Given the description of an element on the screen output the (x, y) to click on. 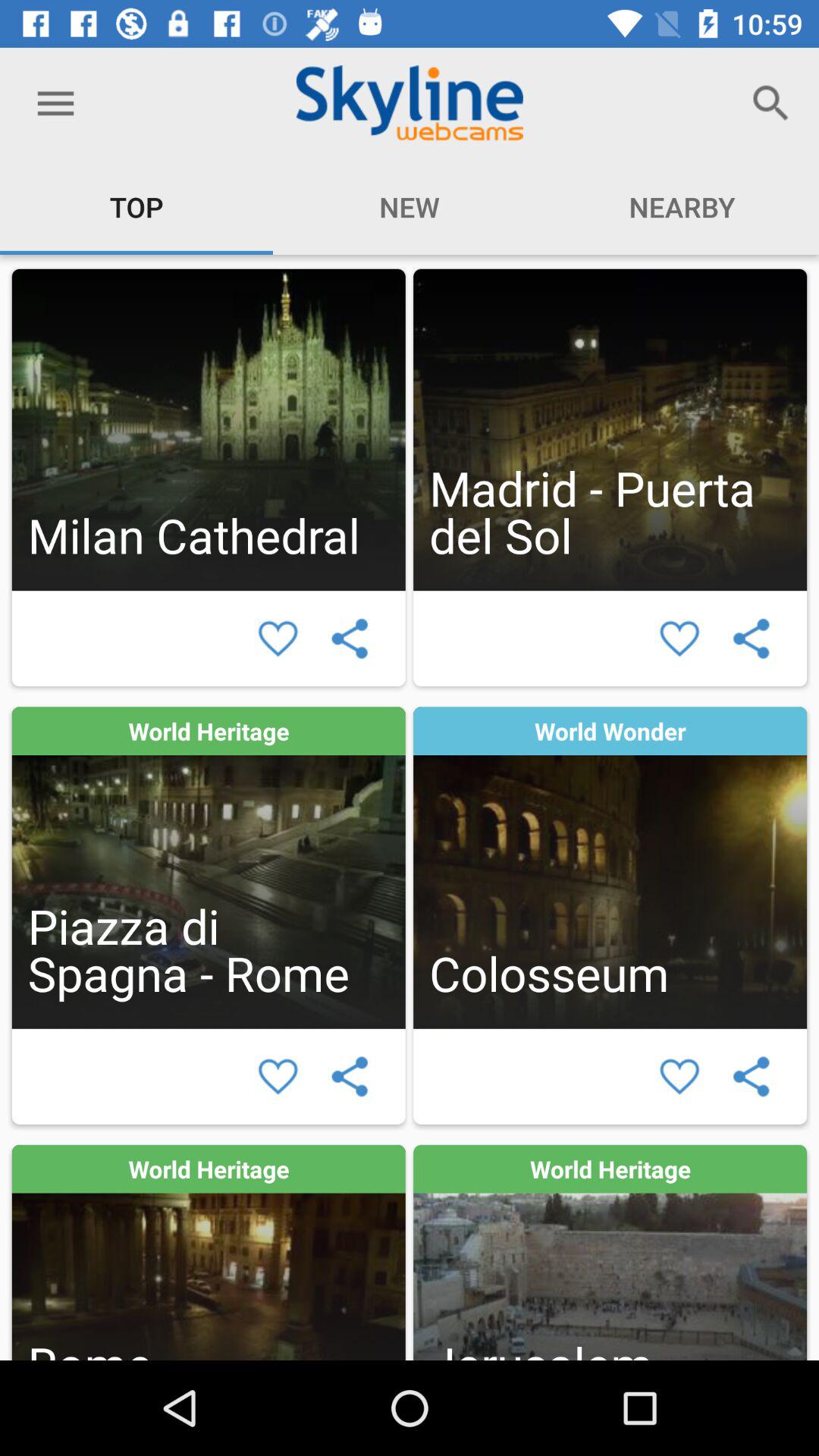
provides madrid puetra de sol information (610, 429)
